Given the description of an element on the screen output the (x, y) to click on. 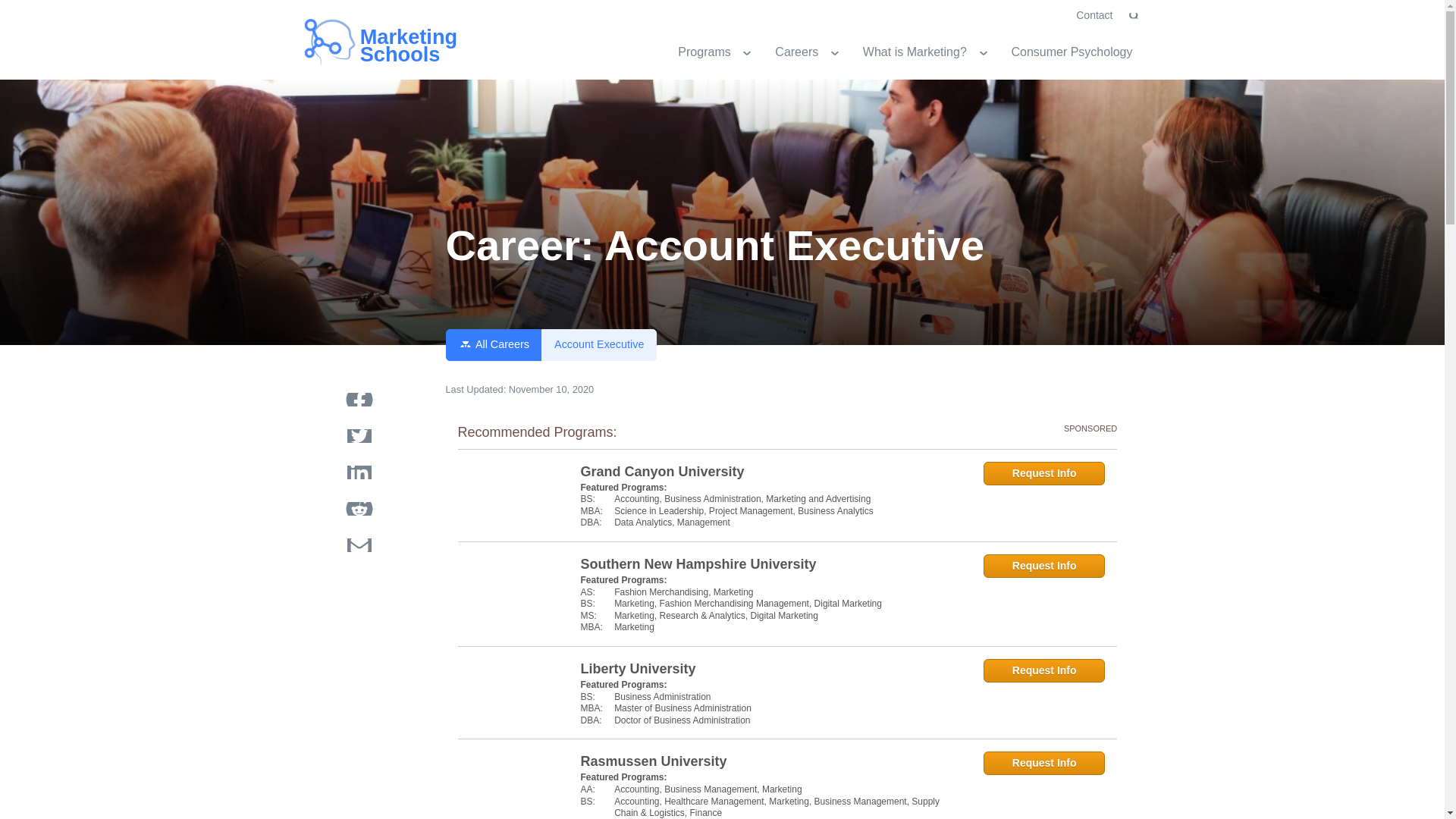
Careers (721, 52)
Careers (394, 43)
All Careers (807, 52)
Consumer Psychology (494, 345)
Careers (1071, 52)
Consumer Psychology (807, 52)
Contact (1071, 52)
Account Executive (1094, 15)
What is Marketing? (598, 345)
Programs (926, 52)
Share by Email (721, 52)
What is Marketing? (358, 549)
